Given the description of an element on the screen output the (x, y) to click on. 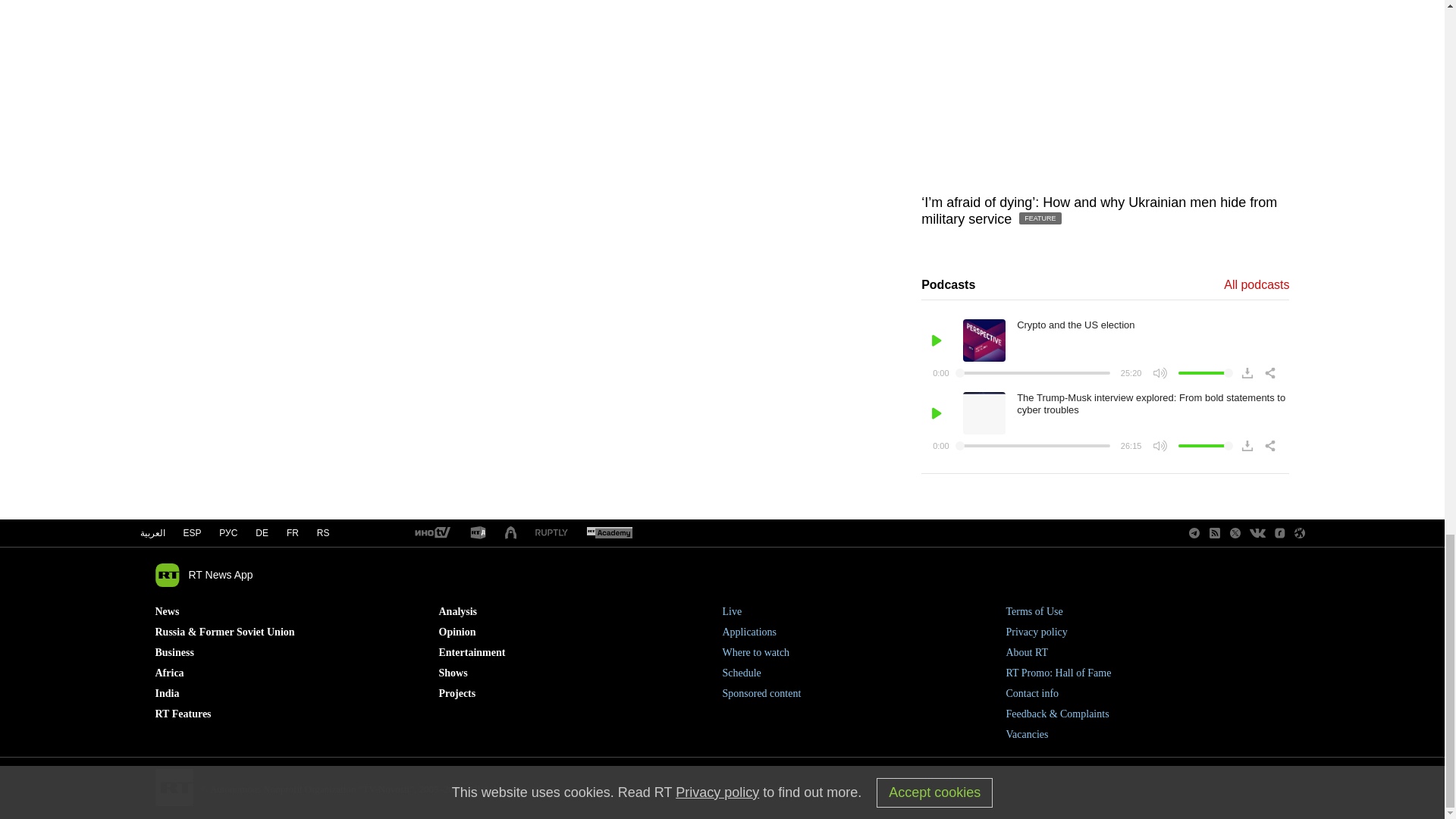
RT  (551, 533)
RT  (431, 533)
RT  (608, 533)
RT  (478, 533)
